Given the description of an element on the screen output the (x, y) to click on. 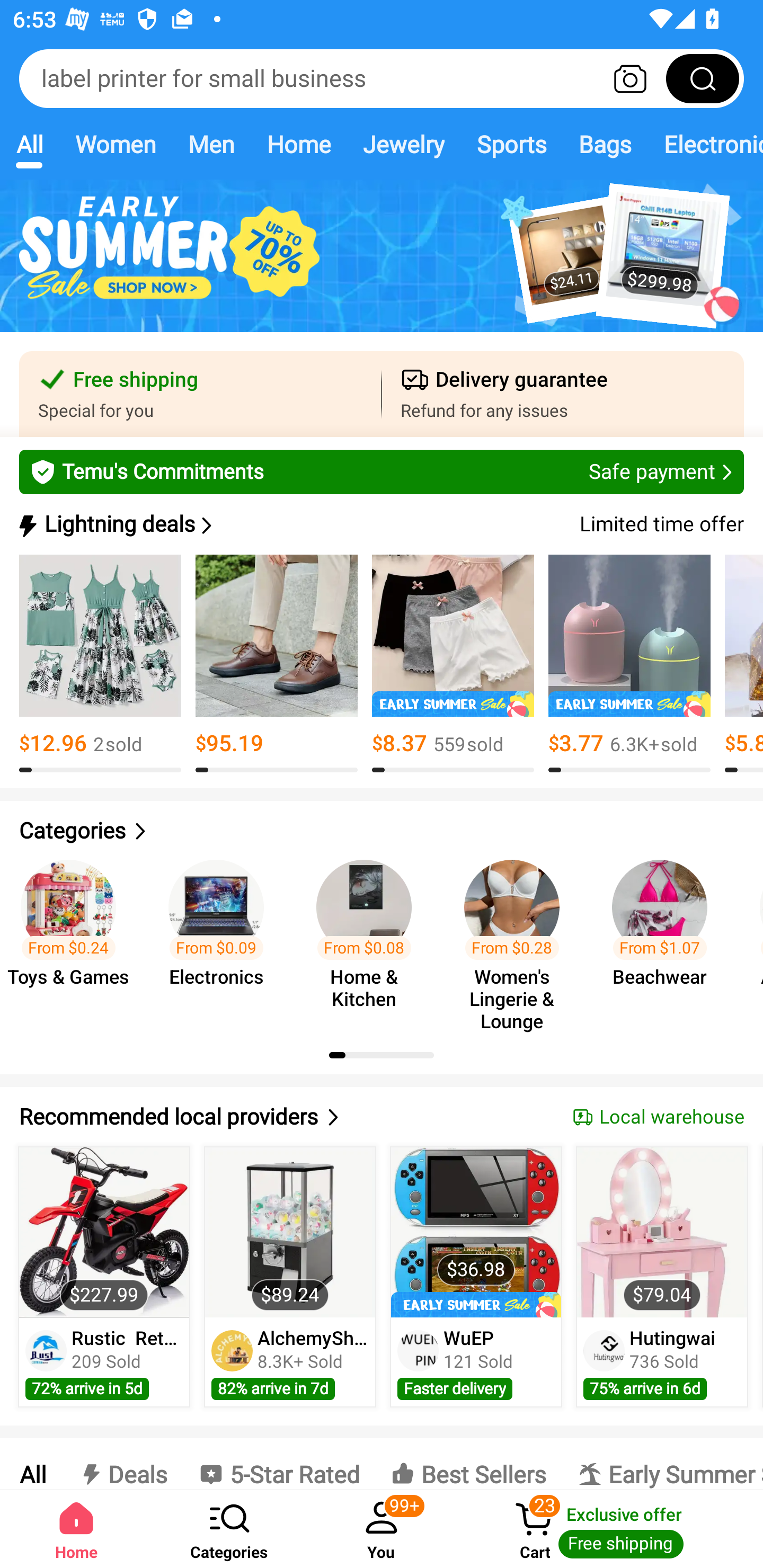
label printer for small business (381, 78)
All (29, 144)
Women (115, 144)
Men (211, 144)
Home (298, 144)
Jewelry (403, 144)
Sports (511, 144)
Bags (605, 144)
Electronics (705, 144)
$24.11 $299.98 (381, 265)
Free shipping Special for you (200, 394)
Delivery guarantee Refund for any issues (562, 394)
Temu's Commitments (381, 471)
Lightning deals Lightning deals Limited time offer (379, 524)
$12.96 2￼sold 8.0 (100, 664)
$95.19 8.0 (276, 664)
$8.37 559￼sold 8.0 (453, 664)
$3.77 6.3K+￼sold 8.0 (629, 664)
Categories (381, 830)
From $0.24 Toys & Games (74, 936)
From $0.09 Electronics (222, 936)
From $0.08 Home & Kitchen (369, 936)
From $0.28 Women's Lingerie & Lounge (517, 936)
From $1.07 Beachwear (665, 936)
$227.99 Rustic Retreat 209 Sold 72% arrive in 5d (103, 1276)
$89.24 AlchemyShop 8.3K+ Sold 82% arrive in 7d (289, 1276)
$36.98 WuEP 121 Sold Faster delivery (475, 1276)
$79.04 Hutingwai 736 Sold 75% arrive in 6d (661, 1276)
$227.99 (104, 1232)
$89.24 (290, 1232)
$36.98 (475, 1232)
$79.04 (661, 1232)
All (32, 1463)
Deals Deals Deals (122, 1463)
5-Star Rated 5-Star Rated 5-Star Rated (279, 1463)
Best Sellers Best Sellers Best Sellers (468, 1463)
Home (76, 1528)
Categories (228, 1528)
You ‎99+‎ You (381, 1528)
Cart 23 Cart Exclusive offer (610, 1528)
